Given the description of an element on the screen output the (x, y) to click on. 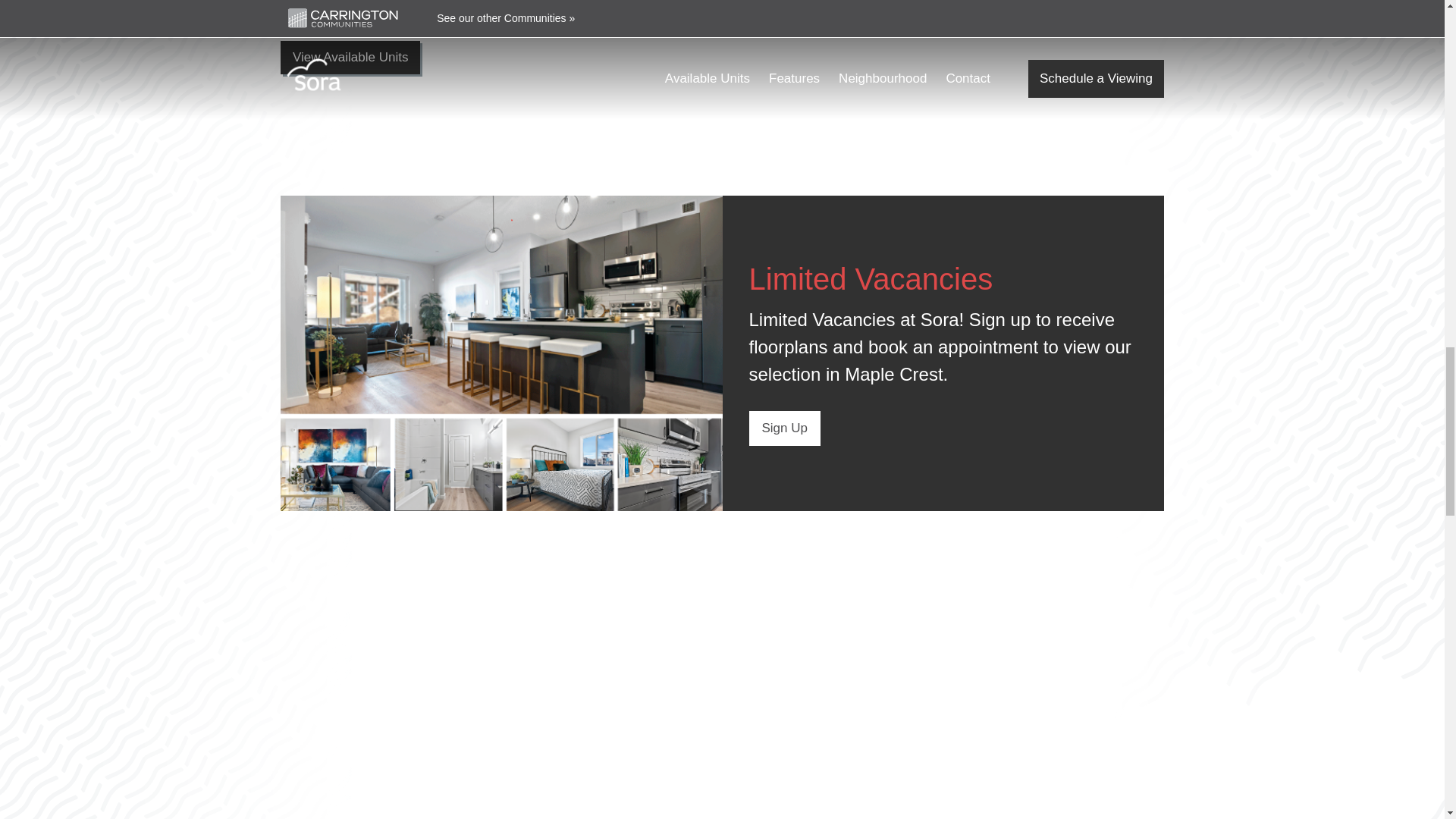
View Available Units (350, 57)
Sign Up (785, 428)
View Available Units (350, 57)
